Given the description of an element on the screen output the (x, y) to click on. 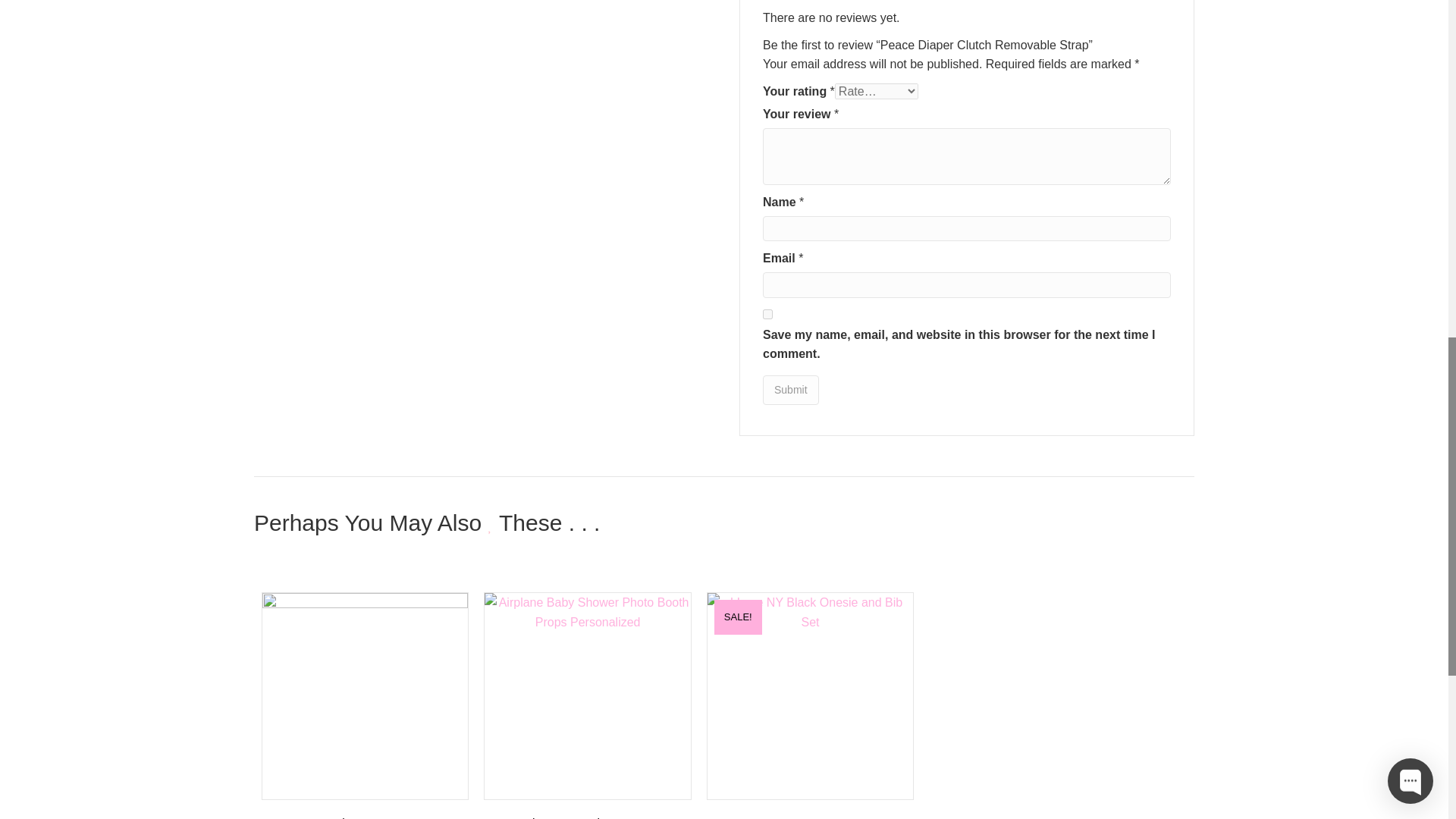
yes (767, 314)
Submit (790, 389)
